Given the description of an element on the screen output the (x, y) to click on. 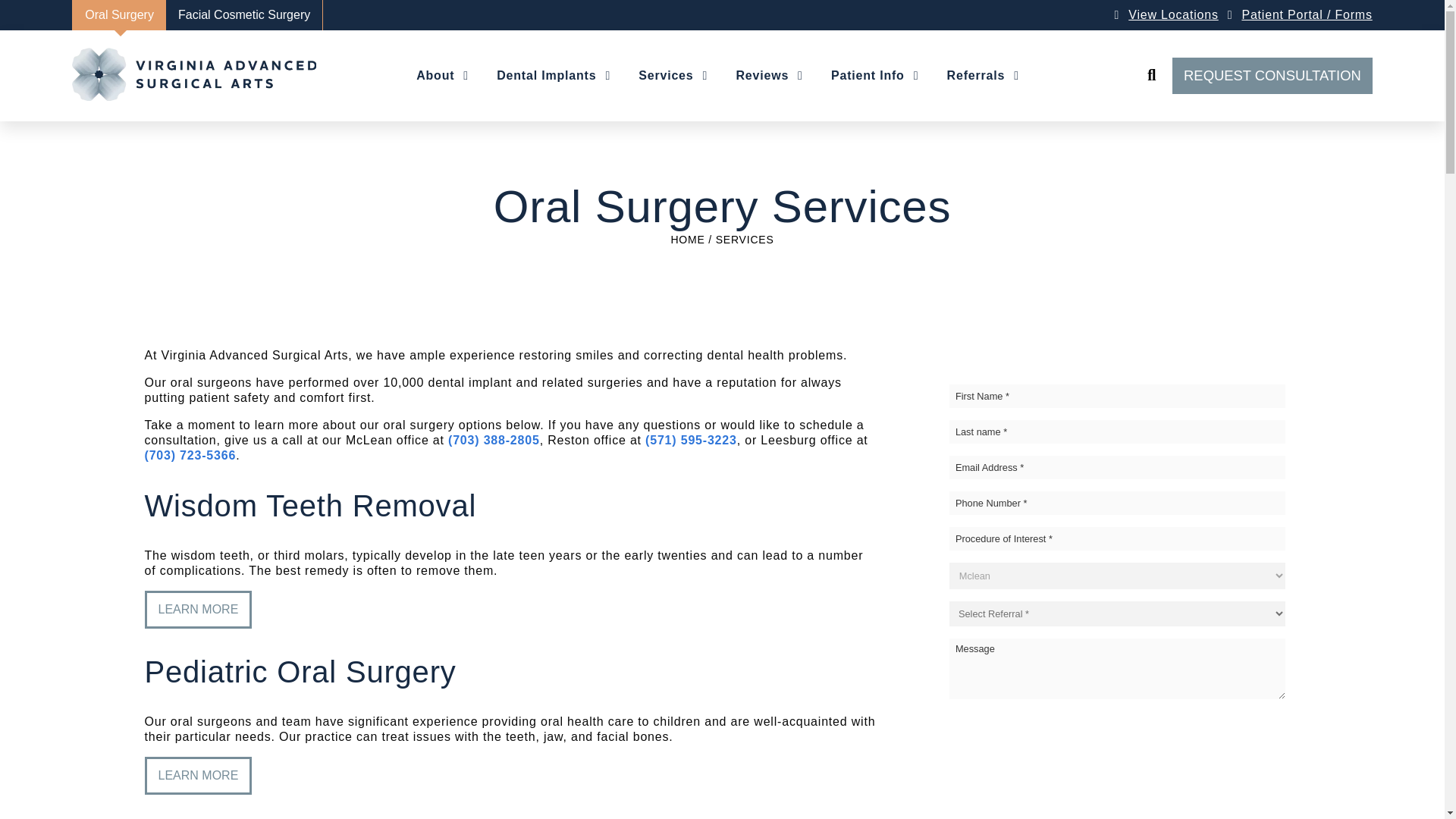
Oral Surgery (118, 15)
Facial Cosmetic Surgery (244, 15)
View Locations (1173, 14)
SUBMIT (1117, 724)
